Given the description of an element on the screen output the (x, y) to click on. 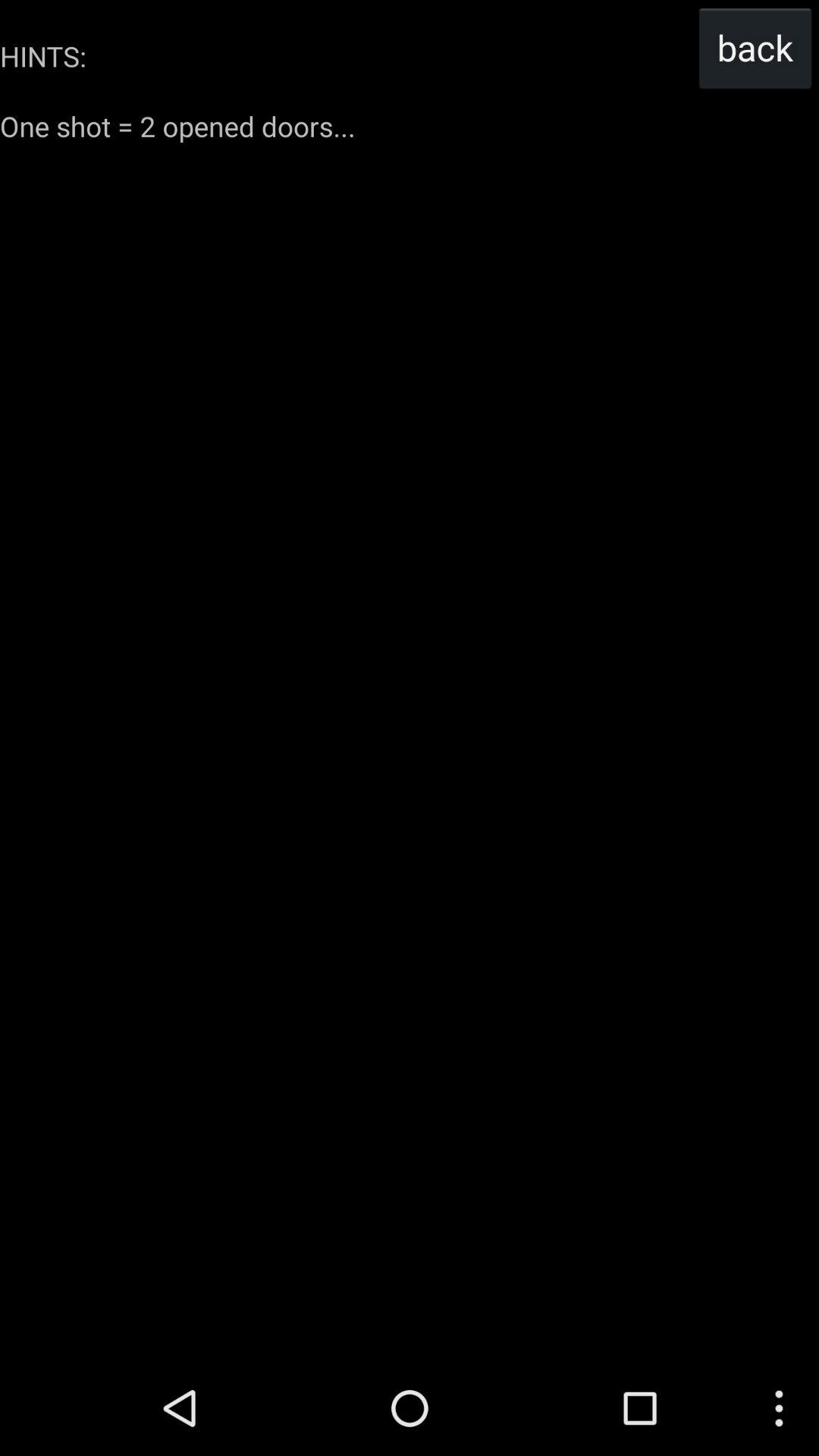
select the back (755, 47)
